Given the description of an element on the screen output the (x, y) to click on. 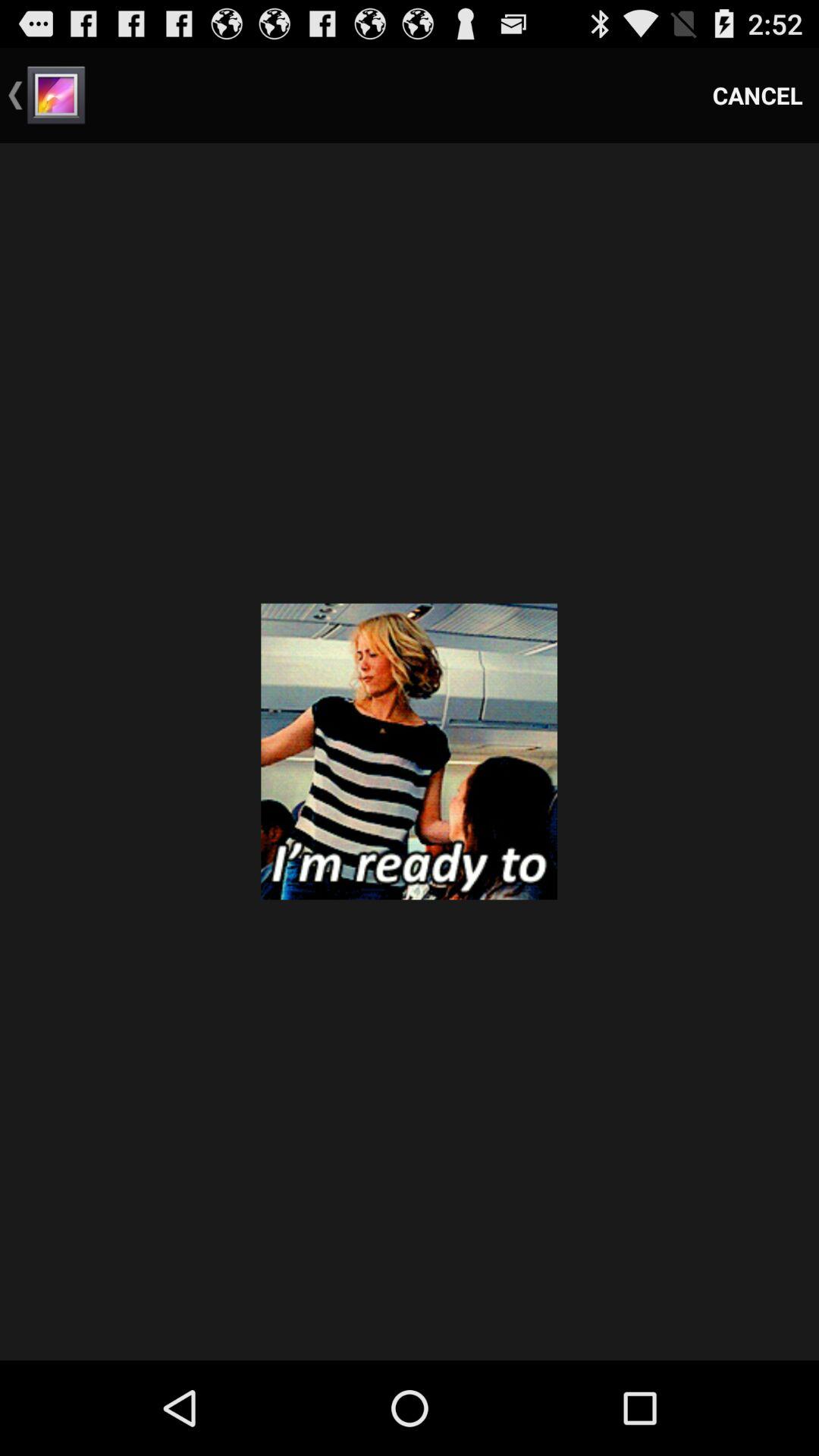
flip until cancel (757, 95)
